Given the description of an element on the screen output the (x, y) to click on. 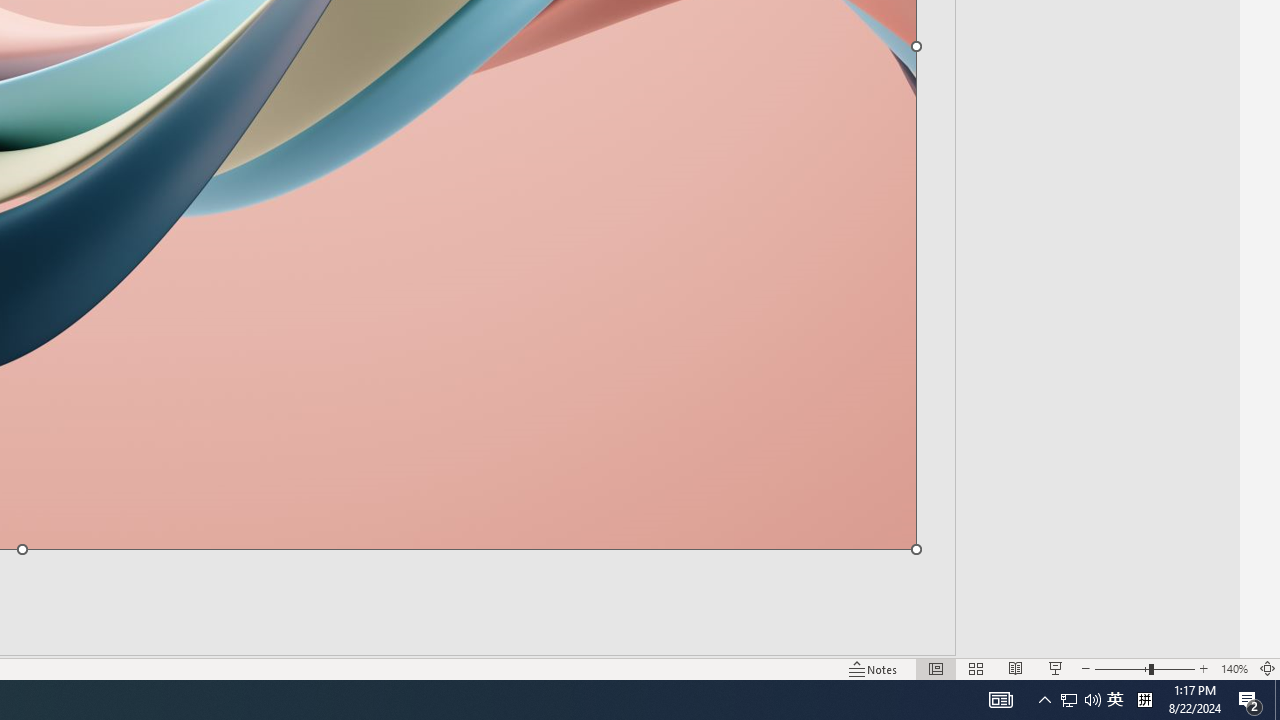
Zoom 140% (1234, 668)
